Given the description of an element on the screen output the (x, y) to click on. 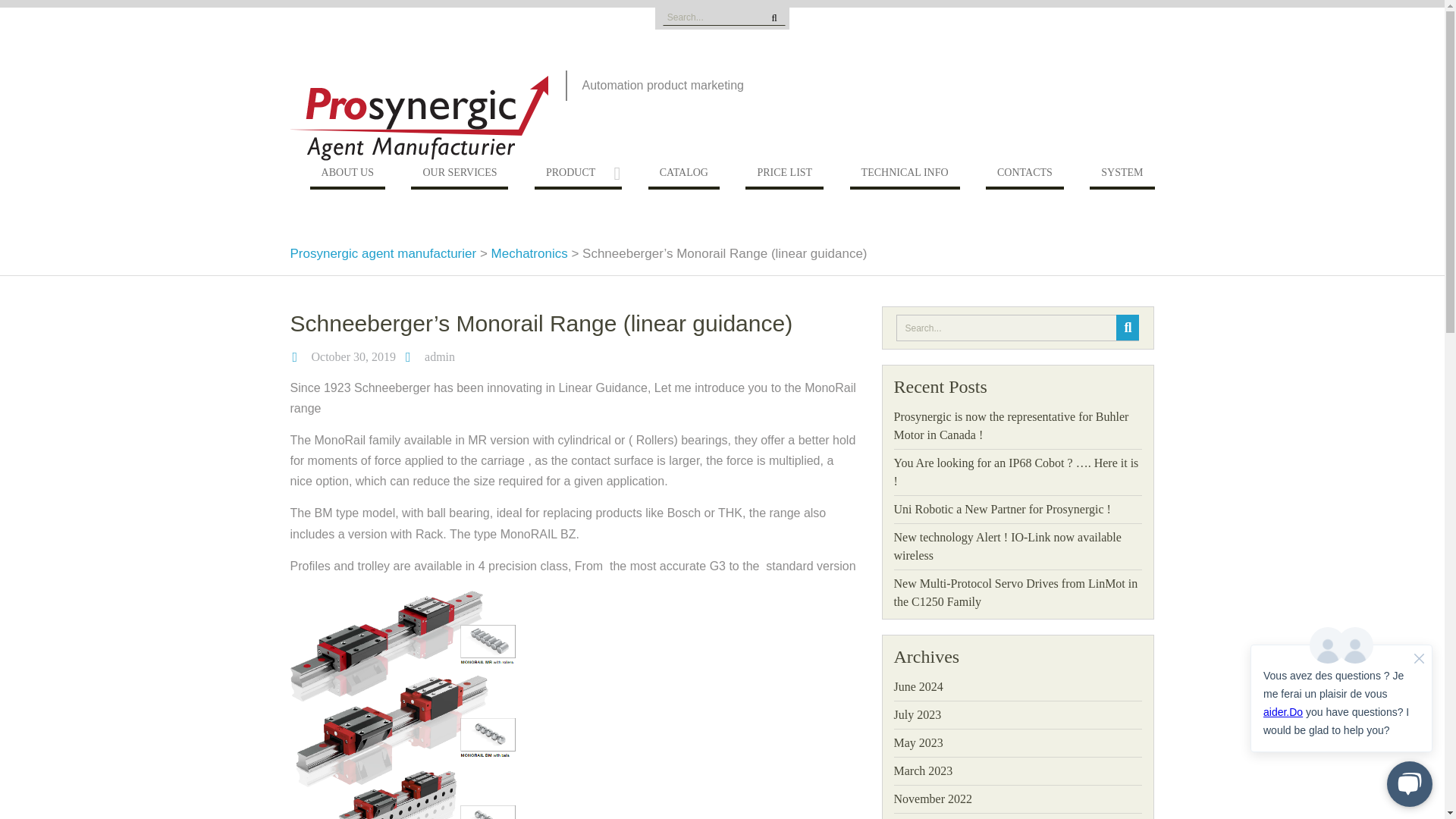
OUR SERVICES (459, 175)
PRICE LIST (784, 175)
ABOUT US (347, 175)
Prosynergic agent manufacturier (382, 253)
admin (439, 356)
Go to Prosynergic agent manufacturier. (382, 253)
October 30, 2019 (353, 356)
PRODUCT (577, 175)
CONTACTS (1024, 175)
TECHNICAL INFO (904, 175)
Go to the Mechatronics category archives. (529, 253)
SYSTEM (1121, 175)
CATALOG (683, 175)
Mechatronics (529, 253)
